Given the description of an element on the screen output the (x, y) to click on. 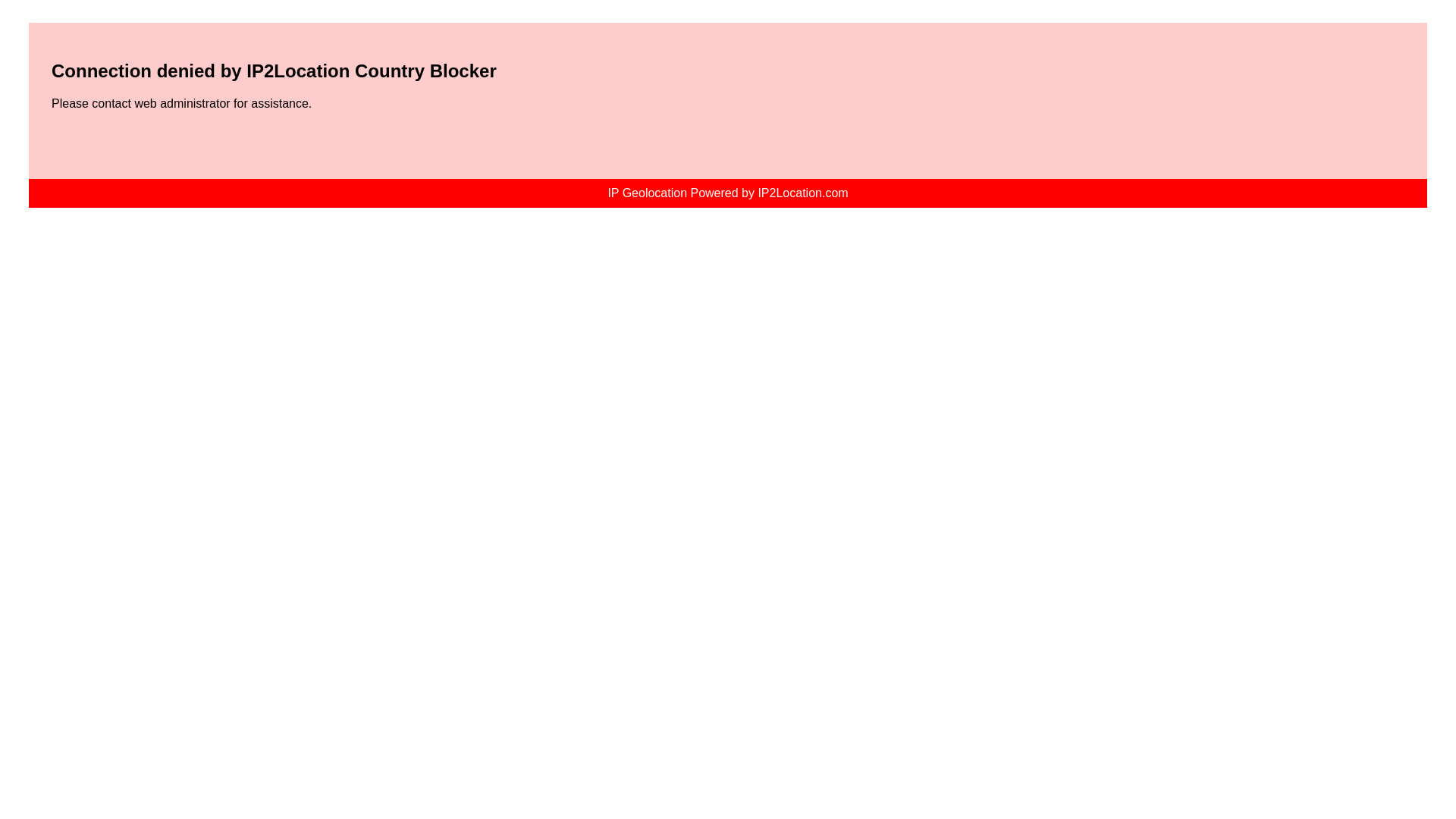
IP Geolocation Powered by IP2Location.com Element type: text (727, 192)
